Given the description of an element on the screen output the (x, y) to click on. 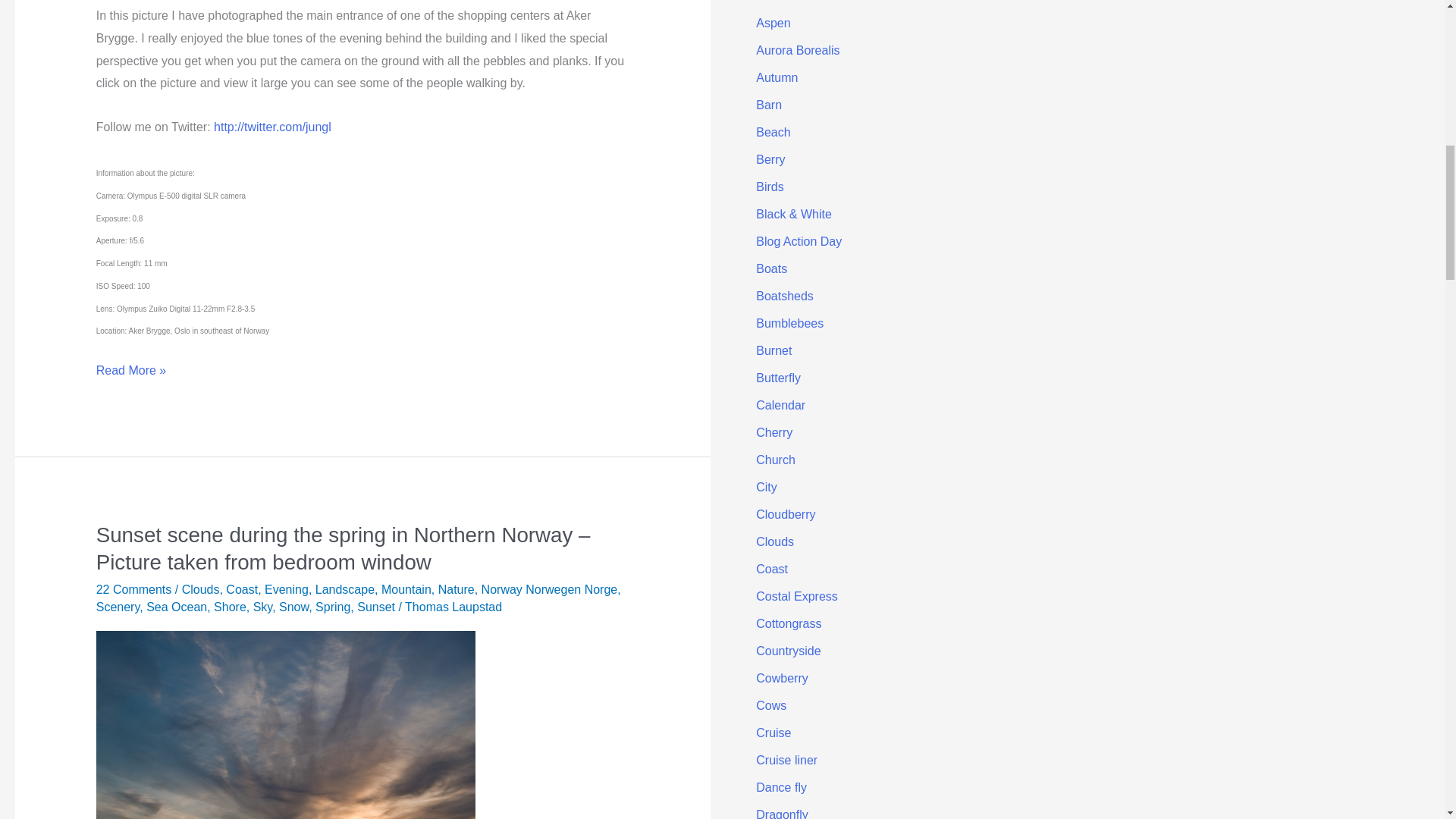
Mountain (405, 589)
Evening (286, 589)
Clouds (200, 589)
Nature (456, 589)
Shore (230, 606)
Coast (241, 589)
22 Comments (133, 589)
Sky (262, 606)
Landscape (344, 589)
Scenery (117, 606)
Sunset scene during the spring in Northern Norway (286, 771)
View all posts by Thomas Laupstad (453, 606)
Snow (293, 606)
Sea Ocean (176, 606)
Norway Norwegen Norge (549, 589)
